Given the description of an element on the screen output the (x, y) to click on. 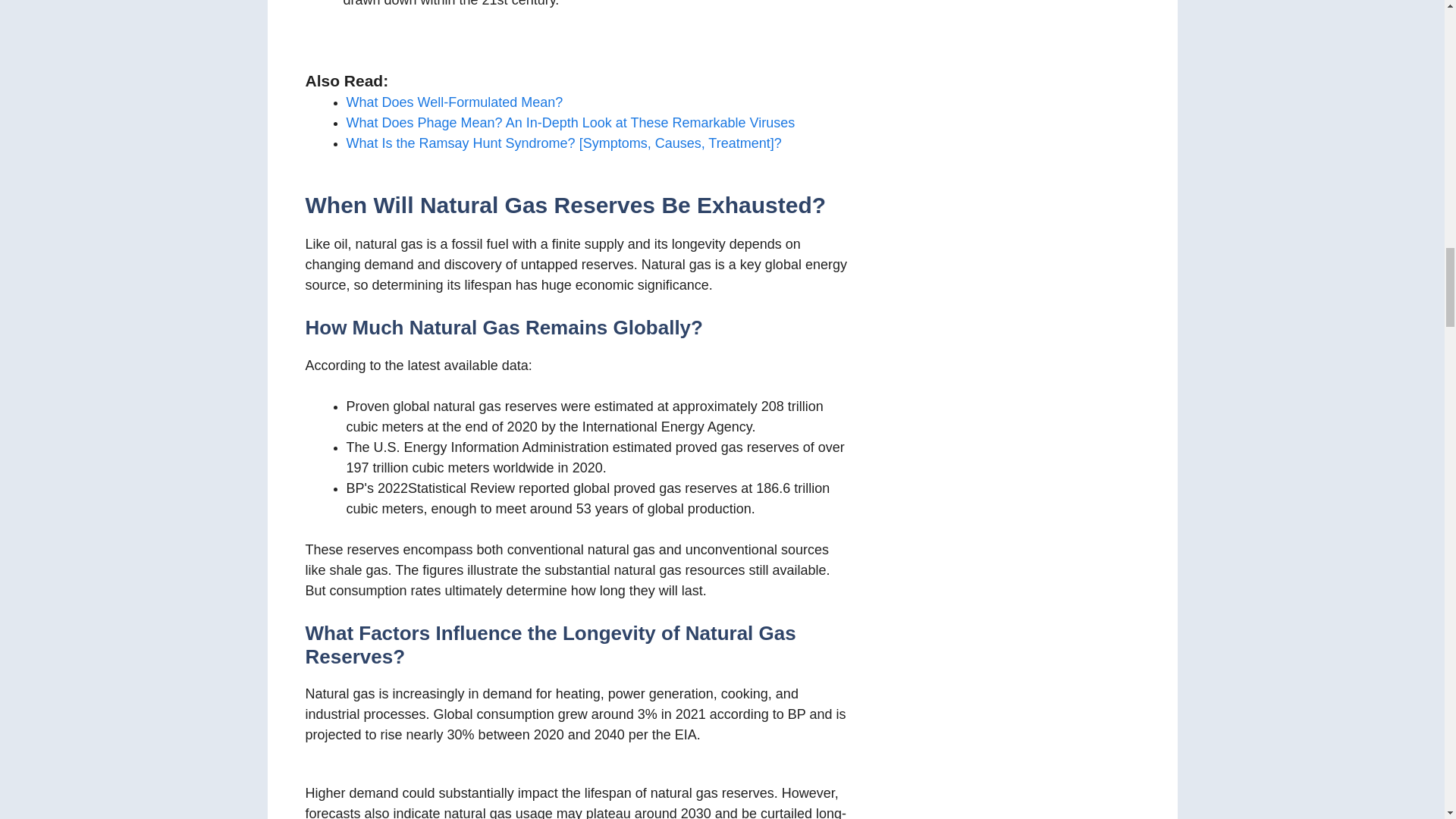
What Does Well-Formulated Mean? (454, 102)
